Given the description of an element on the screen output the (x, y) to click on. 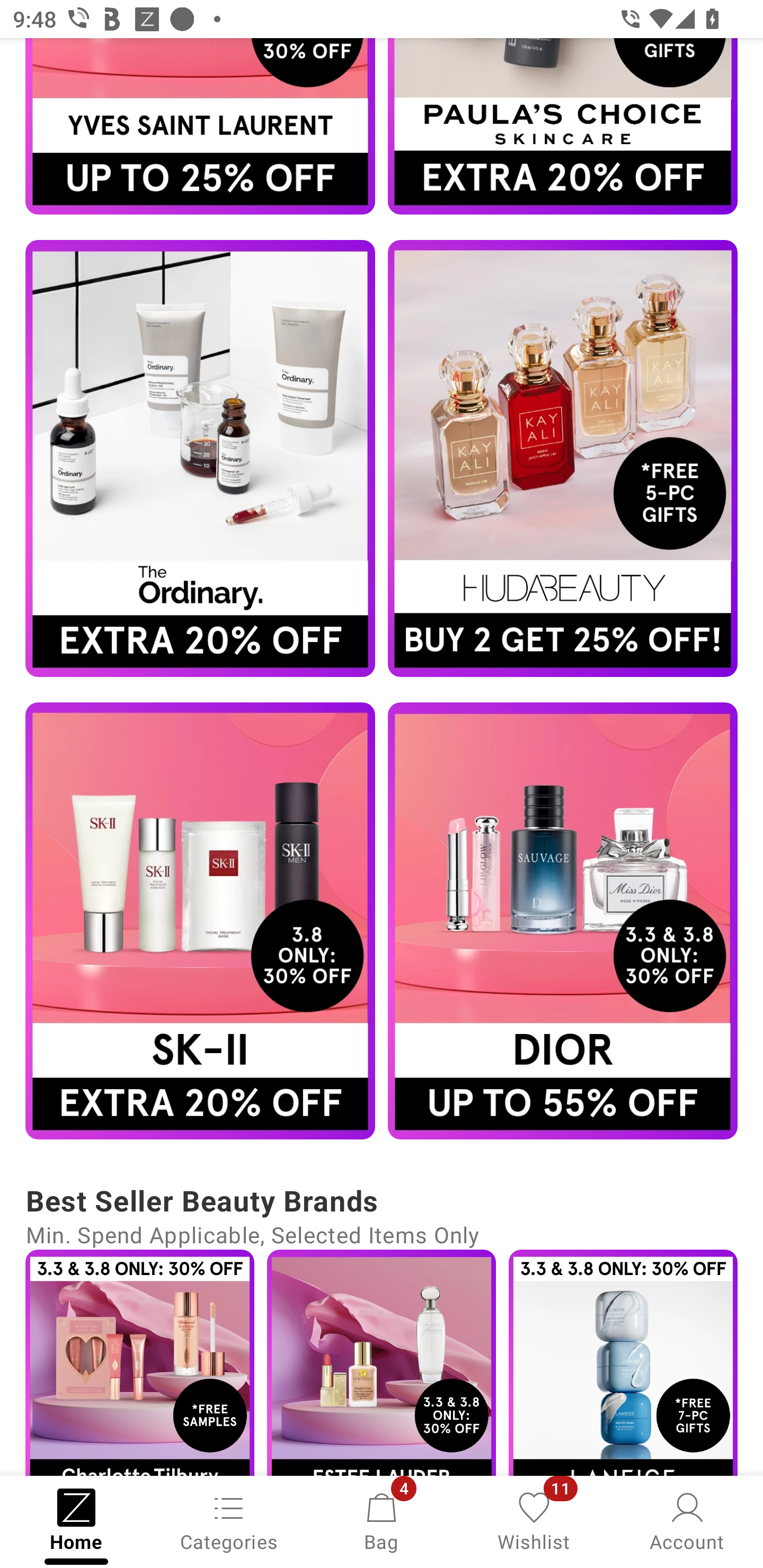
Campaign banner (200, 458)
Campaign banner (562, 458)
Campaign banner (200, 920)
Campaign banner (562, 920)
Campaign banner (139, 1362)
Campaign banner (381, 1362)
Campaign banner (622, 1362)
Categories (228, 1519)
Bag, 4 new notifications Bag (381, 1519)
Wishlist, 11 new notifications Wishlist (533, 1519)
Account (686, 1519)
